Given the description of an element on the screen output the (x, y) to click on. 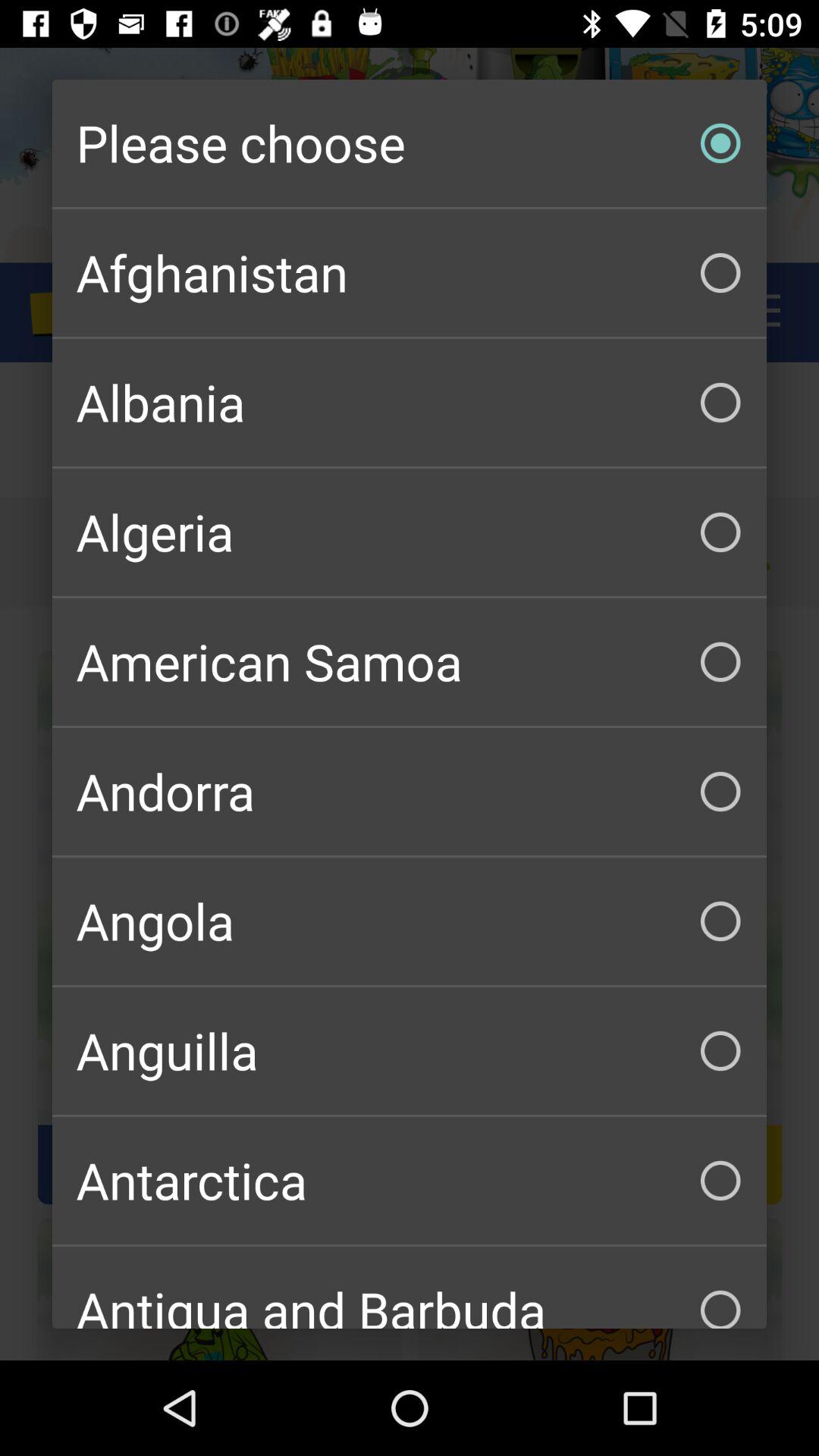
select item above the afghanistan (409, 143)
